Given the description of an element on the screen output the (x, y) to click on. 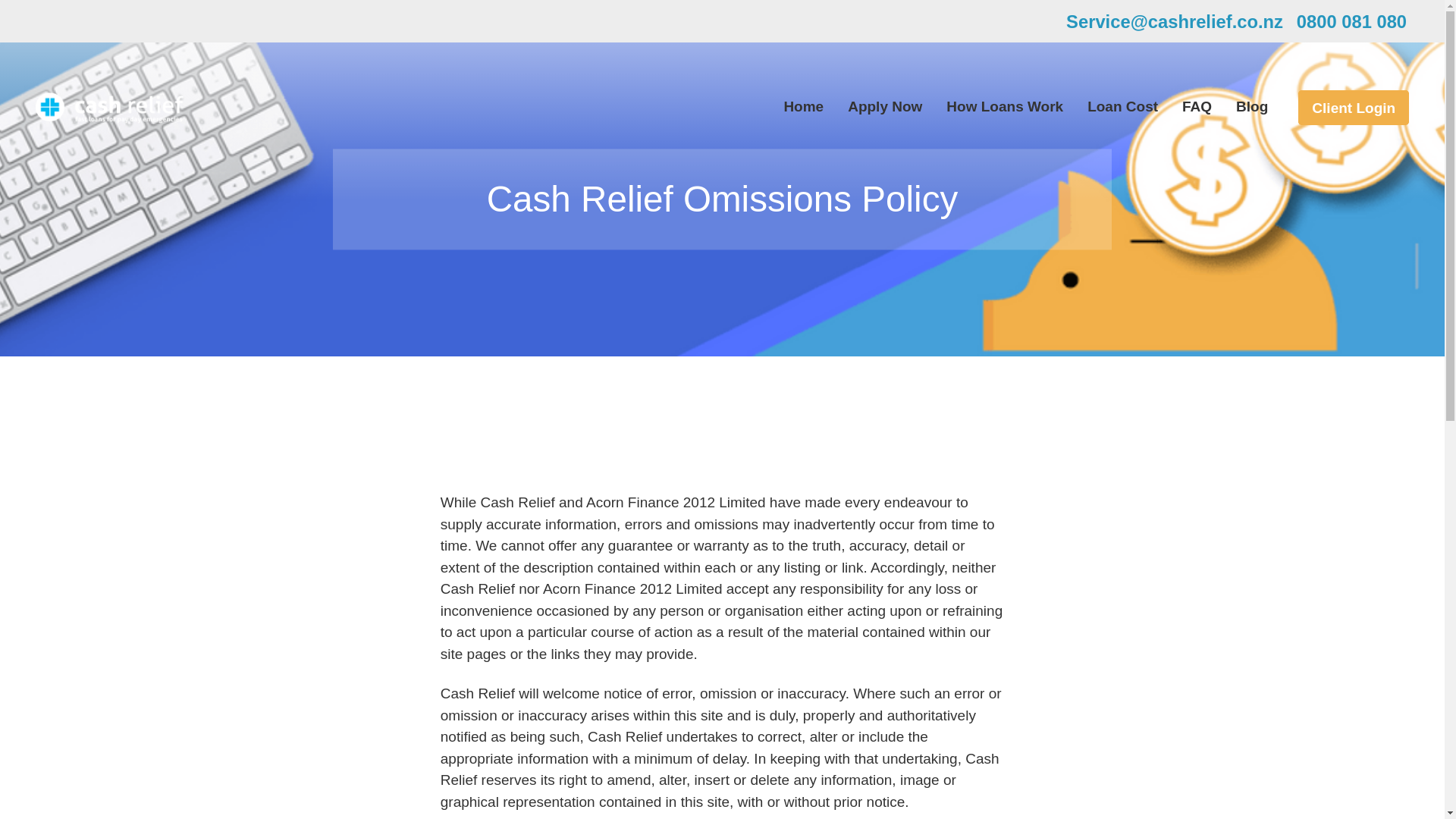
Apply Now (884, 106)
How Loans Work (1004, 106)
Loan Cost (1122, 106)
Client Login (1353, 107)
FAQ (1196, 106)
Blog (1252, 106)
Home (803, 106)
